Given the description of an element on the screen output the (x, y) to click on. 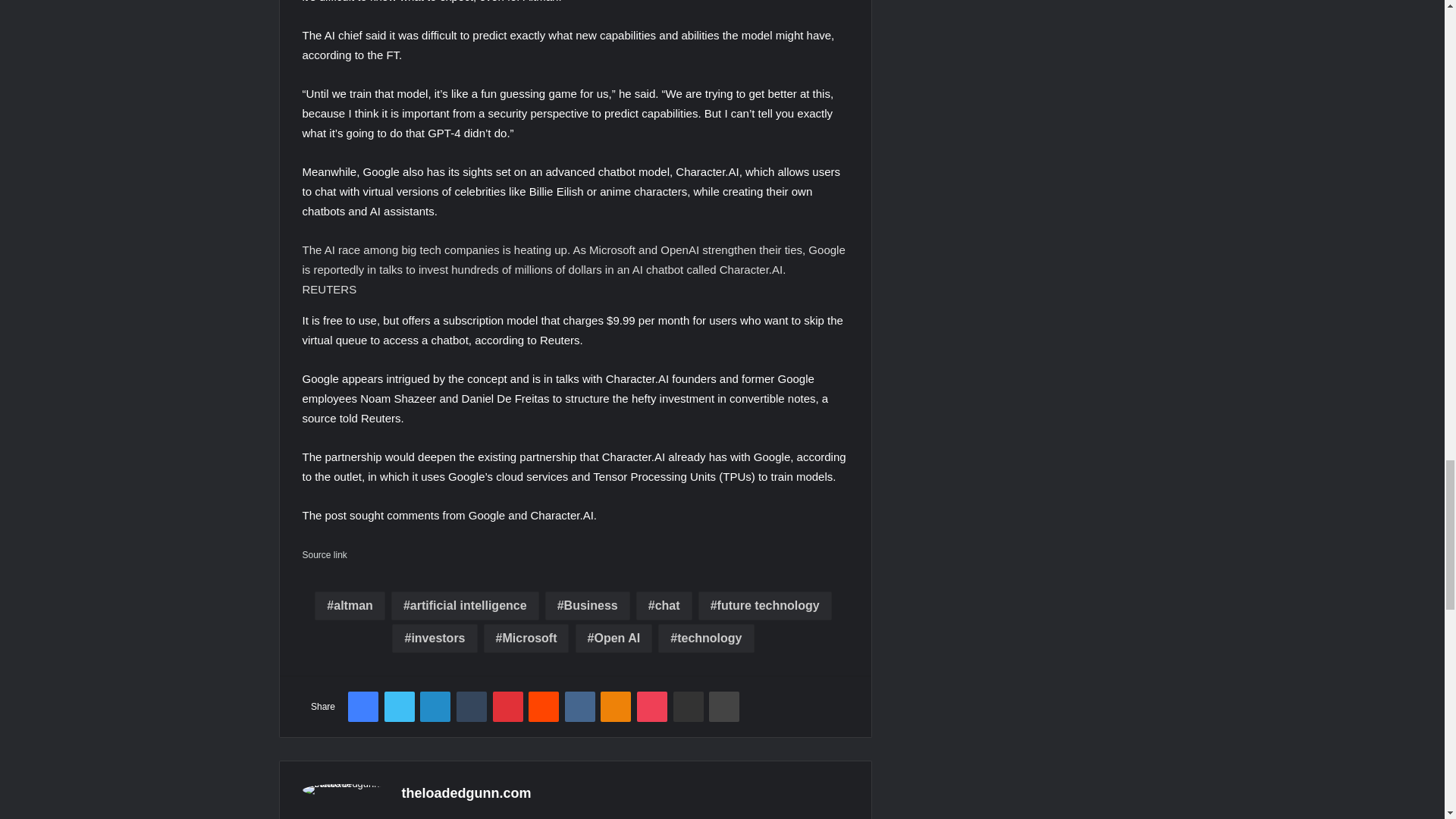
Business (587, 605)
Source link (323, 554)
artificial intelligence (464, 605)
chat (664, 605)
altman (349, 605)
future technology (764, 605)
